Given the description of an element on the screen output the (x, y) to click on. 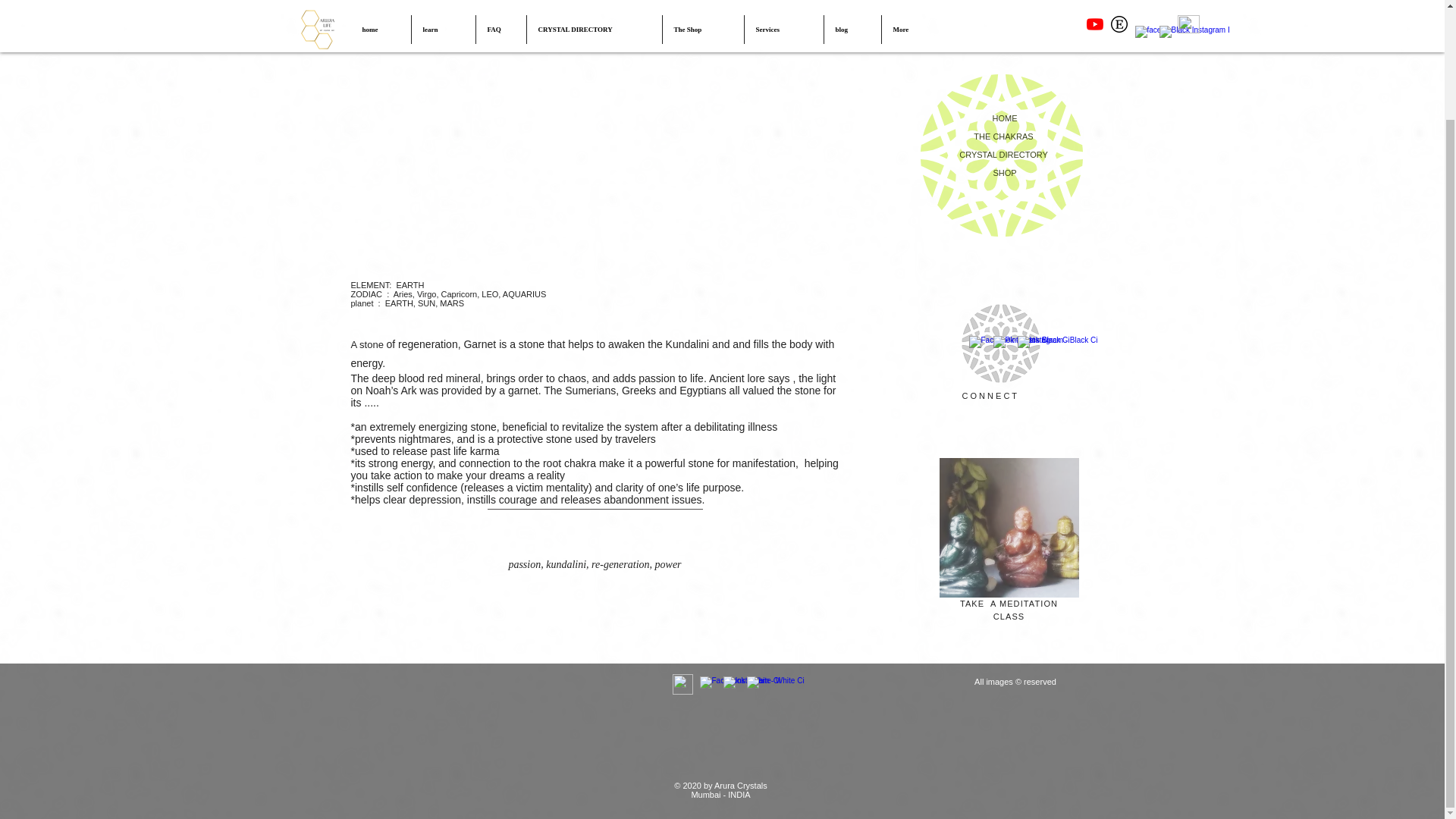
SHOP (1004, 172)
HOME (1003, 117)
EARTH (409, 284)
CRYSTAL DIRECTORY  (1004, 153)
THE CHAKRAS  (1004, 135)
